Given the description of an element on the screen output the (x, y) to click on. 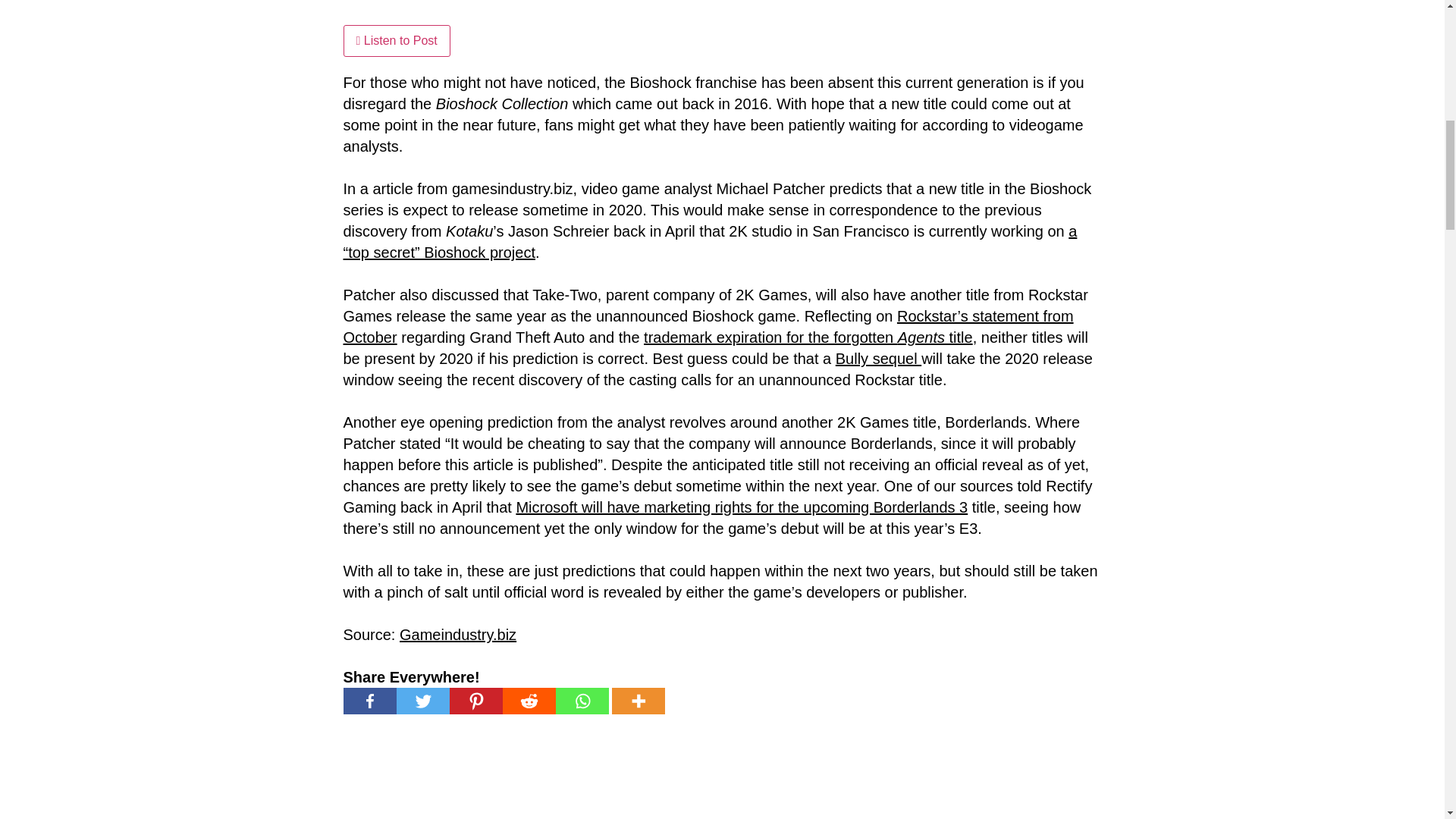
Reddit (528, 700)
More (637, 700)
Twitter (422, 700)
Facebook (369, 700)
Pinterest (475, 700)
Whatsapp (581, 700)
